Given the description of an element on the screen output the (x, y) to click on. 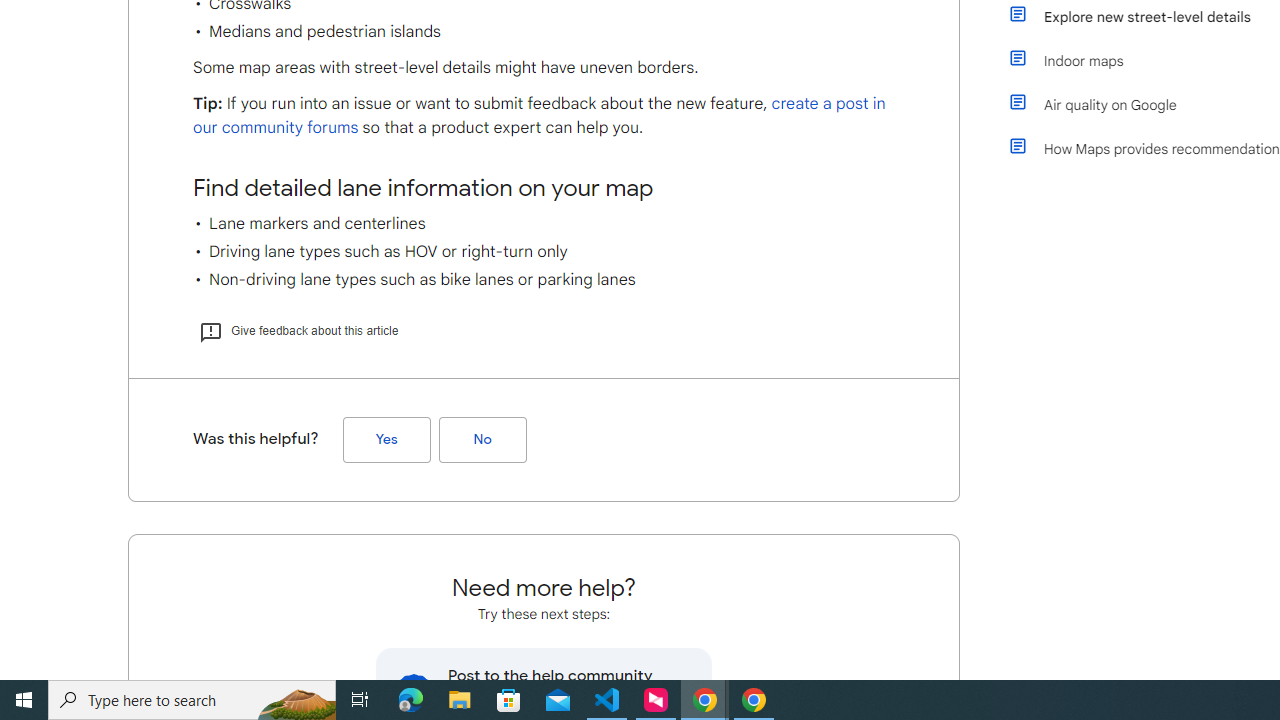
create a post in our community forums (539, 116)
No (Was this helpful?) (482, 439)
Give feedback about this article (298, 330)
Yes (Was this helpful?) (386, 439)
